Given the description of an element on the screen output the (x, y) to click on. 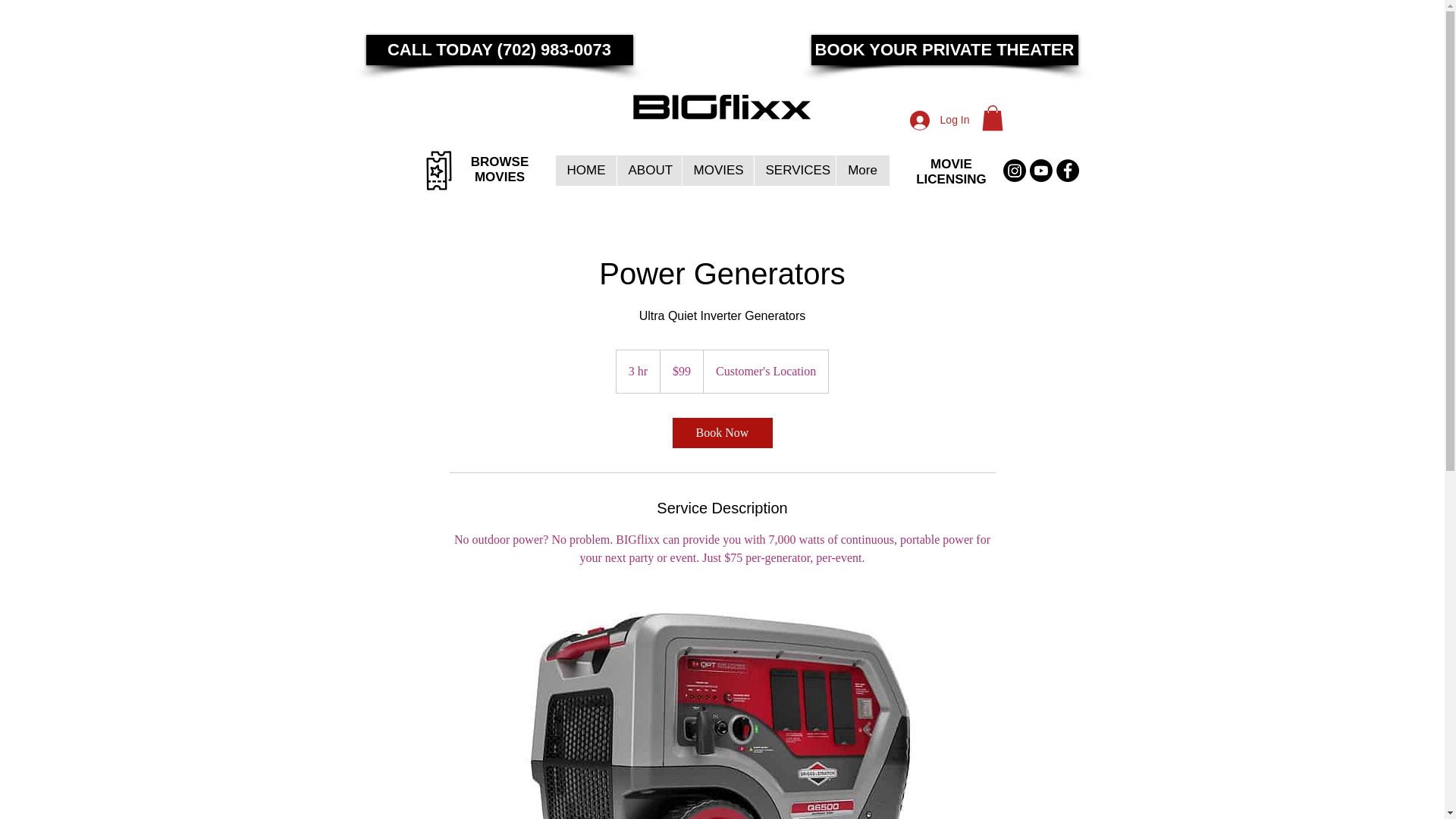
Book Now (721, 432)
Log In (939, 120)
MOVIES (716, 170)
ABOUT (648, 170)
SERVICES (499, 169)
HOME (951, 171)
BOOK YOUR PRIVATE THEATER (794, 170)
